Given the description of an element on the screen output the (x, y) to click on. 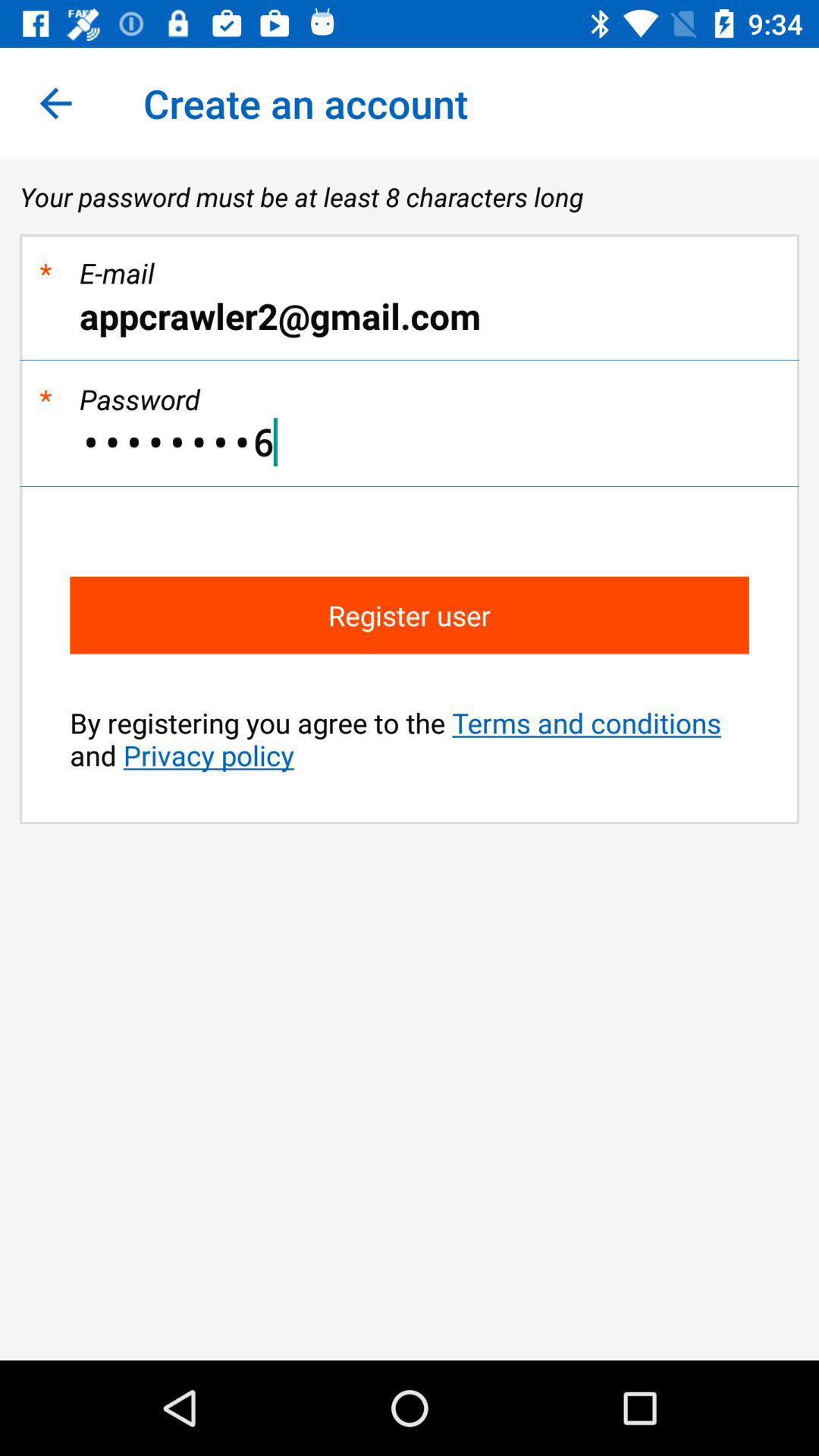
turn on by registering you item (409, 739)
